Given the description of an element on the screen output the (x, y) to click on. 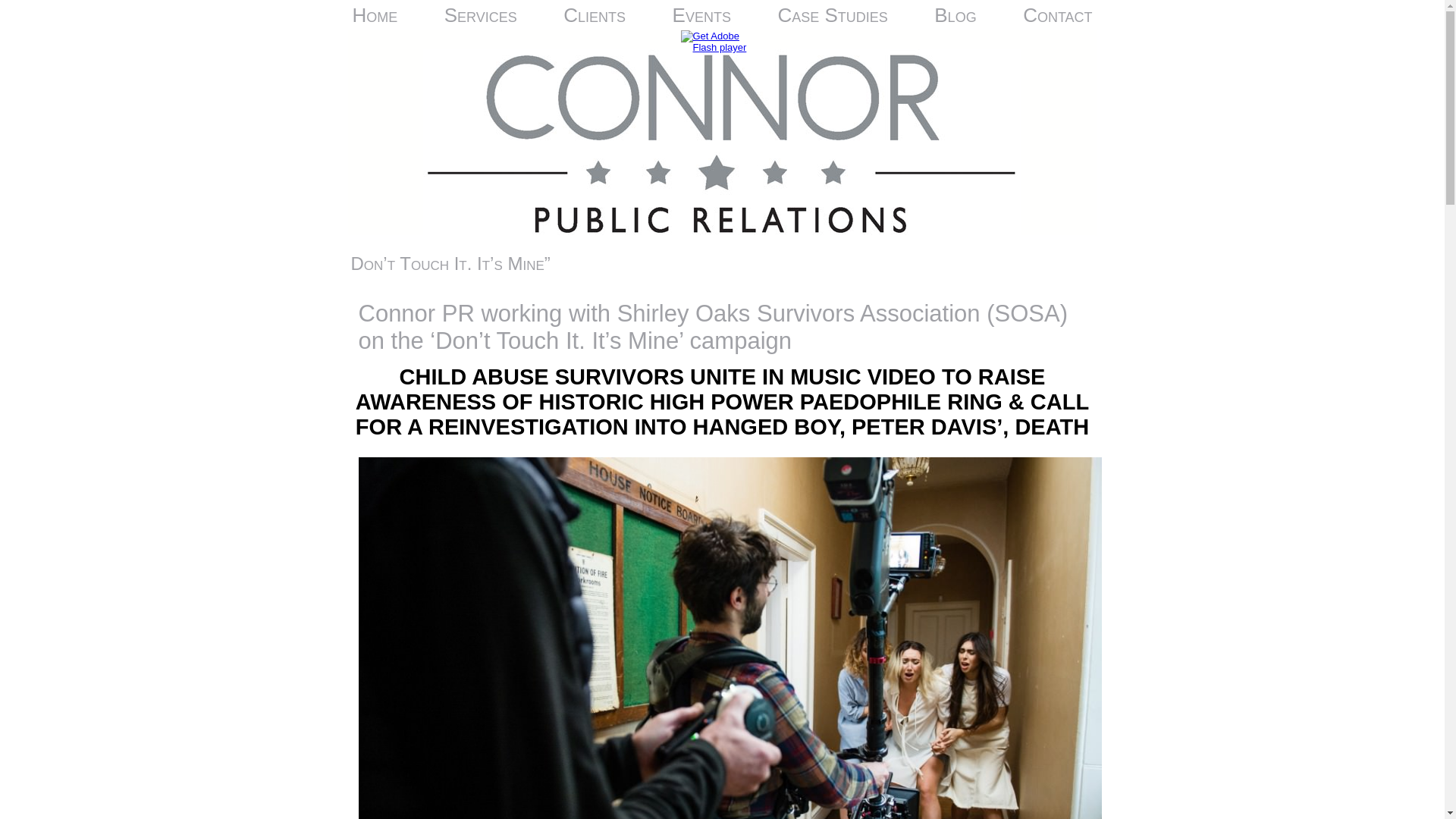
Clients (594, 15)
Case Studies (832, 15)
Events (701, 15)
Case Studies (832, 15)
Services (480, 15)
Contact (1056, 15)
Blog (954, 15)
Events (701, 15)
Clients (594, 15)
Home (374, 15)
